Given the description of an element on the screen output the (x, y) to click on. 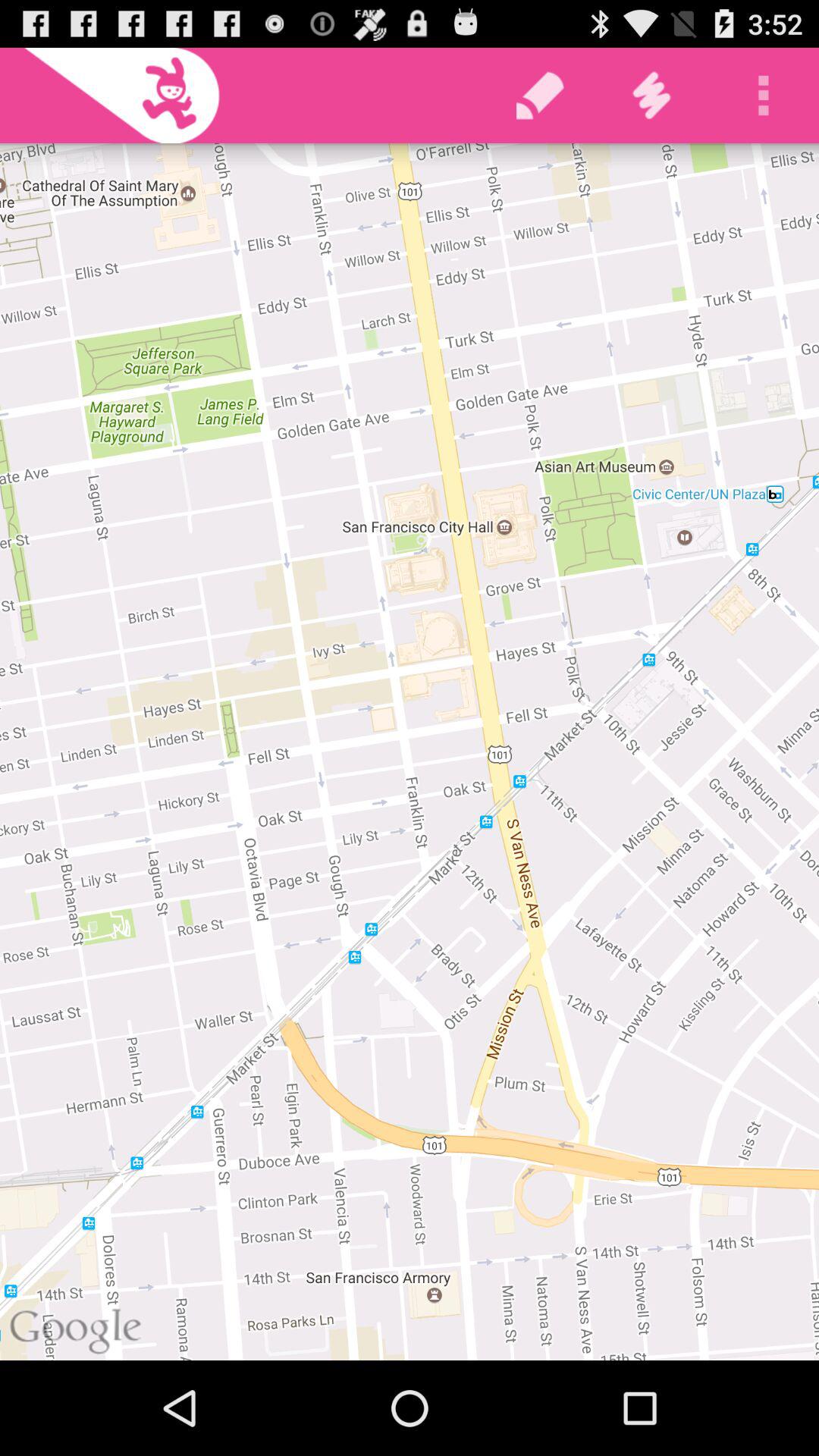
tap the icon at the top (540, 95)
